Given the description of an element on the screen output the (x, y) to click on. 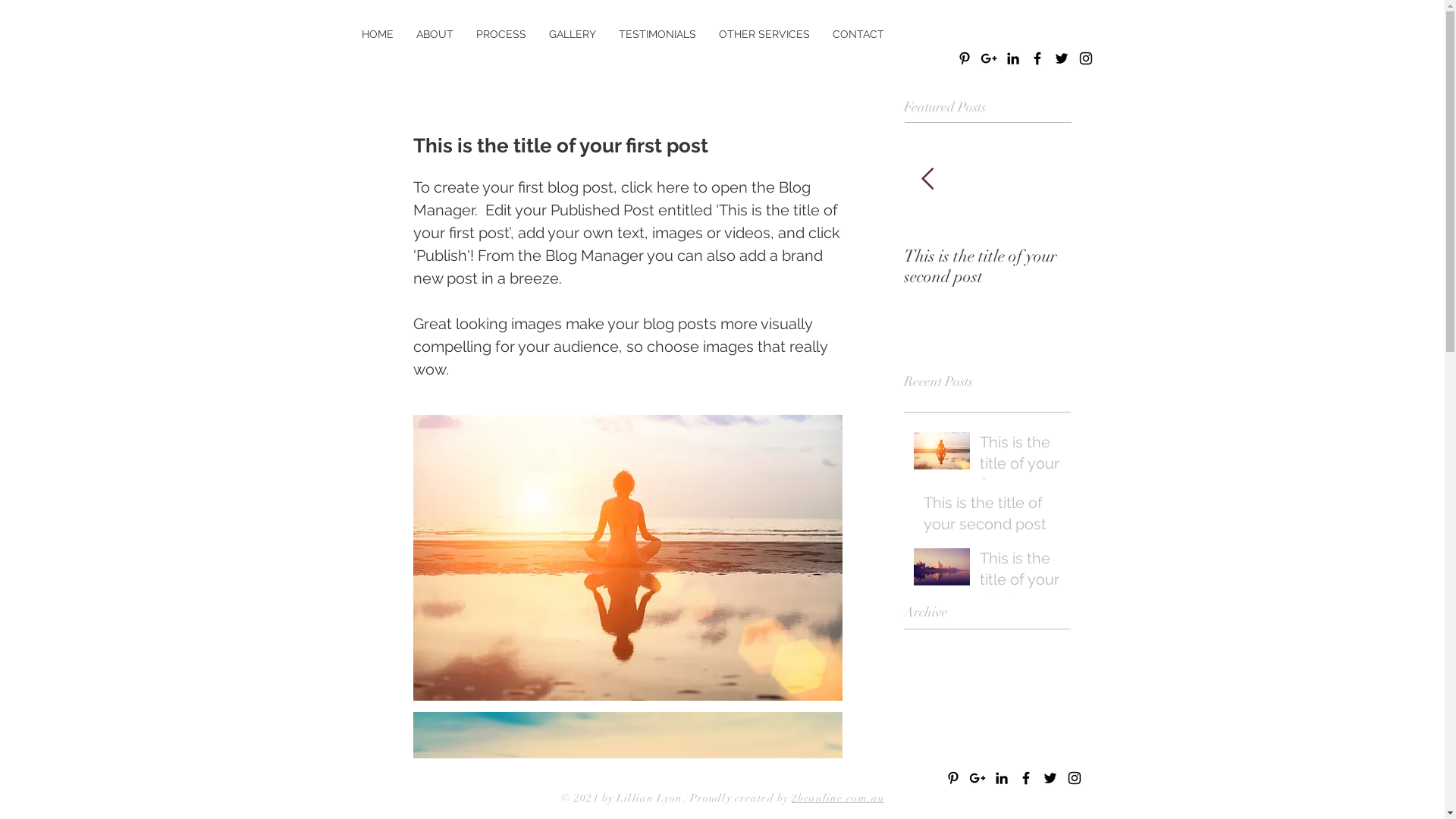
2beonline.com.au Element type: text (834, 797)
This is the title of your first post Element type: text (986, 265)
PROCESS Element type: text (496, 34)
May 2015 (1) Element type: text (983, 690)
This is the title of your second post Element type: text (1153, 265)
ABOUT Element type: text (429, 34)
July 2015 (1) Element type: text (983, 644)
OTHER SERVICES Element type: text (763, 34)
CONTACT Element type: text (858, 34)
Sightseeing Element type: text (985, 765)
Vacation Element type: text (441, 279)
HOME Element type: text (372, 34)
This is the title of your first post Element type: text (1020, 466)
June 2015 (1) Element type: text (983, 667)
New York Element type: text (925, 765)
This is the title of your second post Element type: text (992, 516)
Lillian Lyon Element type: text (652, 797)
TESTIMONIALS Element type: text (655, 34)
This is the title of your third post Element type: text (1020, 582)
Post not marked as liked Element type: text (835, 381)
Vacation Element type: text (1042, 765)
GALLERY Element type: text (569, 34)
